Given the description of an element on the screen output the (x, y) to click on. 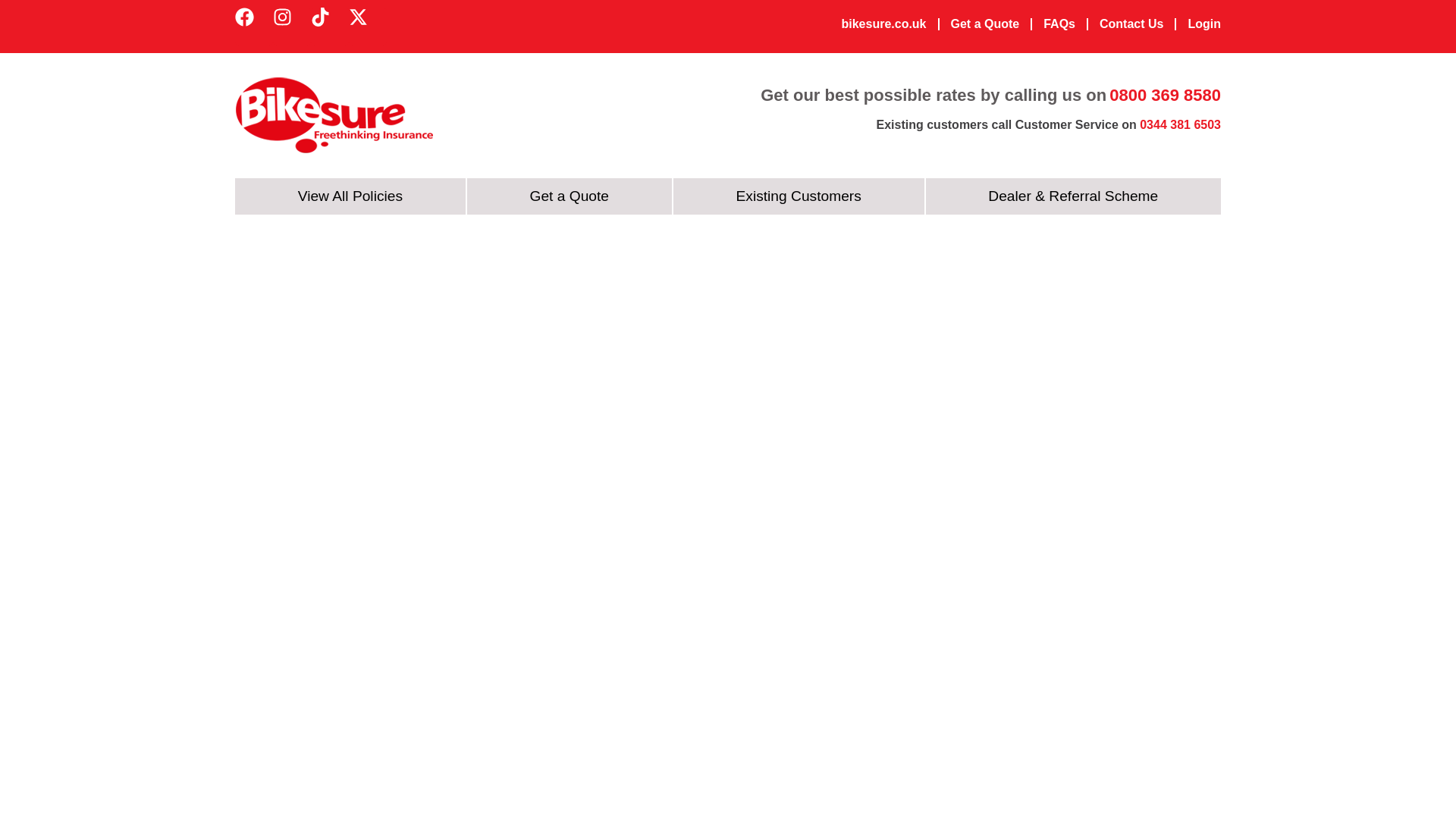
Contact Us (1131, 23)
0800 369 8580 (1165, 94)
FAQs (1059, 23)
View All Policies (349, 196)
bikesure.co.uk (883, 23)
Get a Quote (985, 23)
0344 381 6503 (1180, 124)
Login (1204, 23)
